Given the description of an element on the screen output the (x, y) to click on. 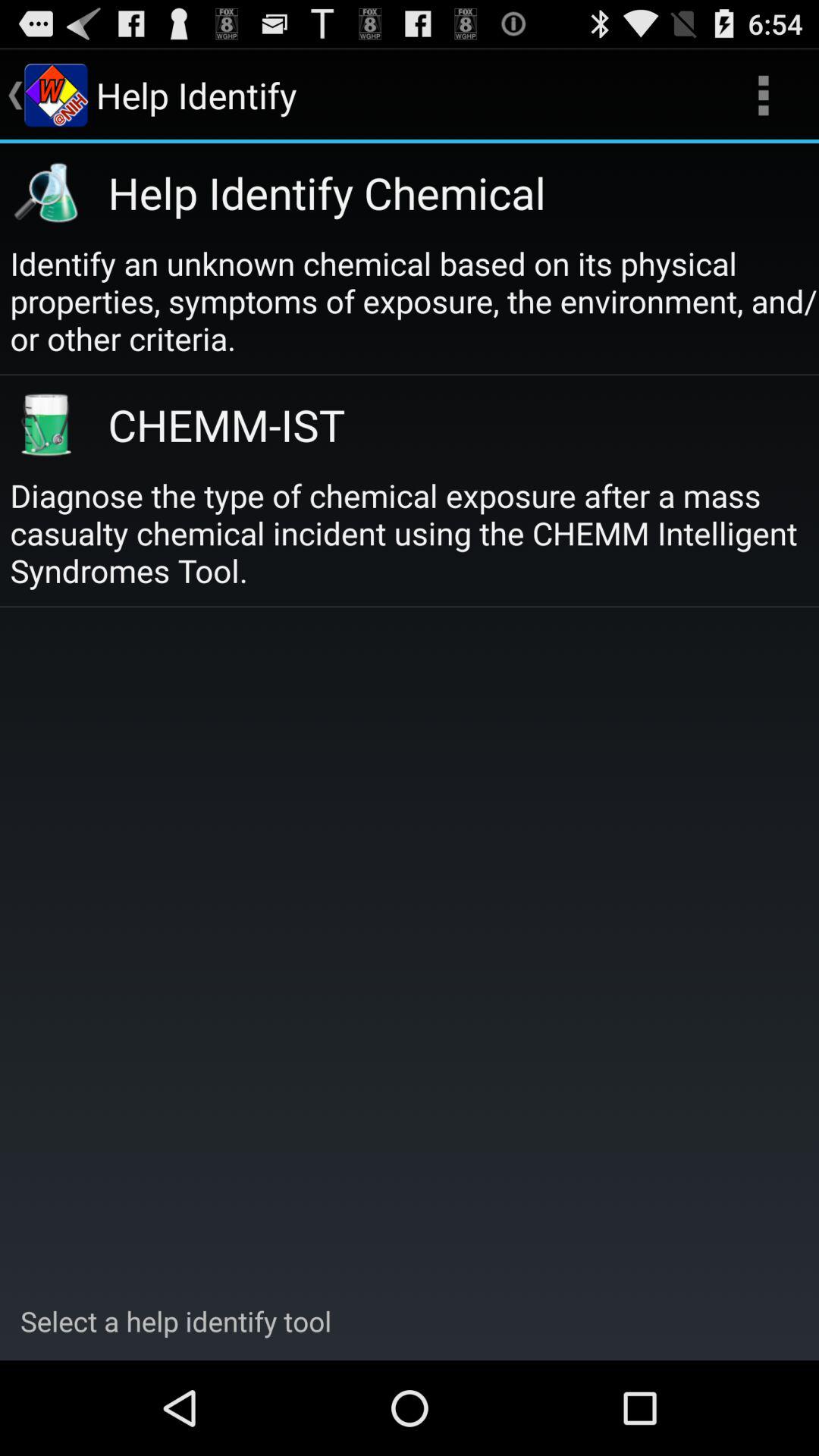
press the icon below the identify an unknown item (446, 424)
